Given the description of an element on the screen output the (x, y) to click on. 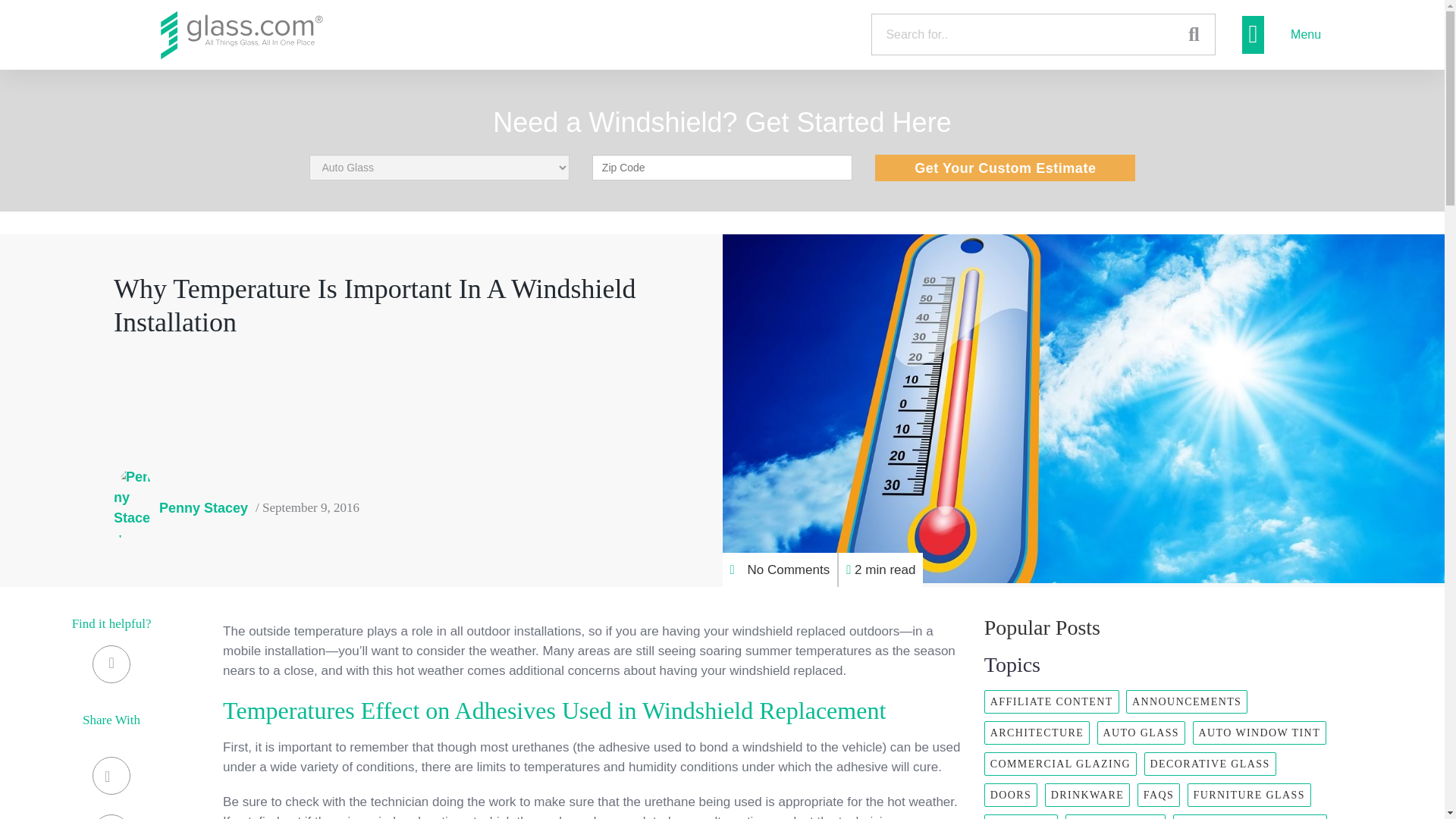
Penny Stacey (180, 507)
AUTO WINDOW TINT (1259, 732)
FAQS (1158, 794)
Get Your Custom Estimate (1005, 167)
DECORATIVE GLASS (1210, 763)
No Comments (779, 569)
AUTO GLASS (1141, 732)
ARCHITECTURE (1036, 732)
DOORS (1010, 794)
AFFILIATE CONTENT (1051, 701)
